Given the description of an element on the screen output the (x, y) to click on. 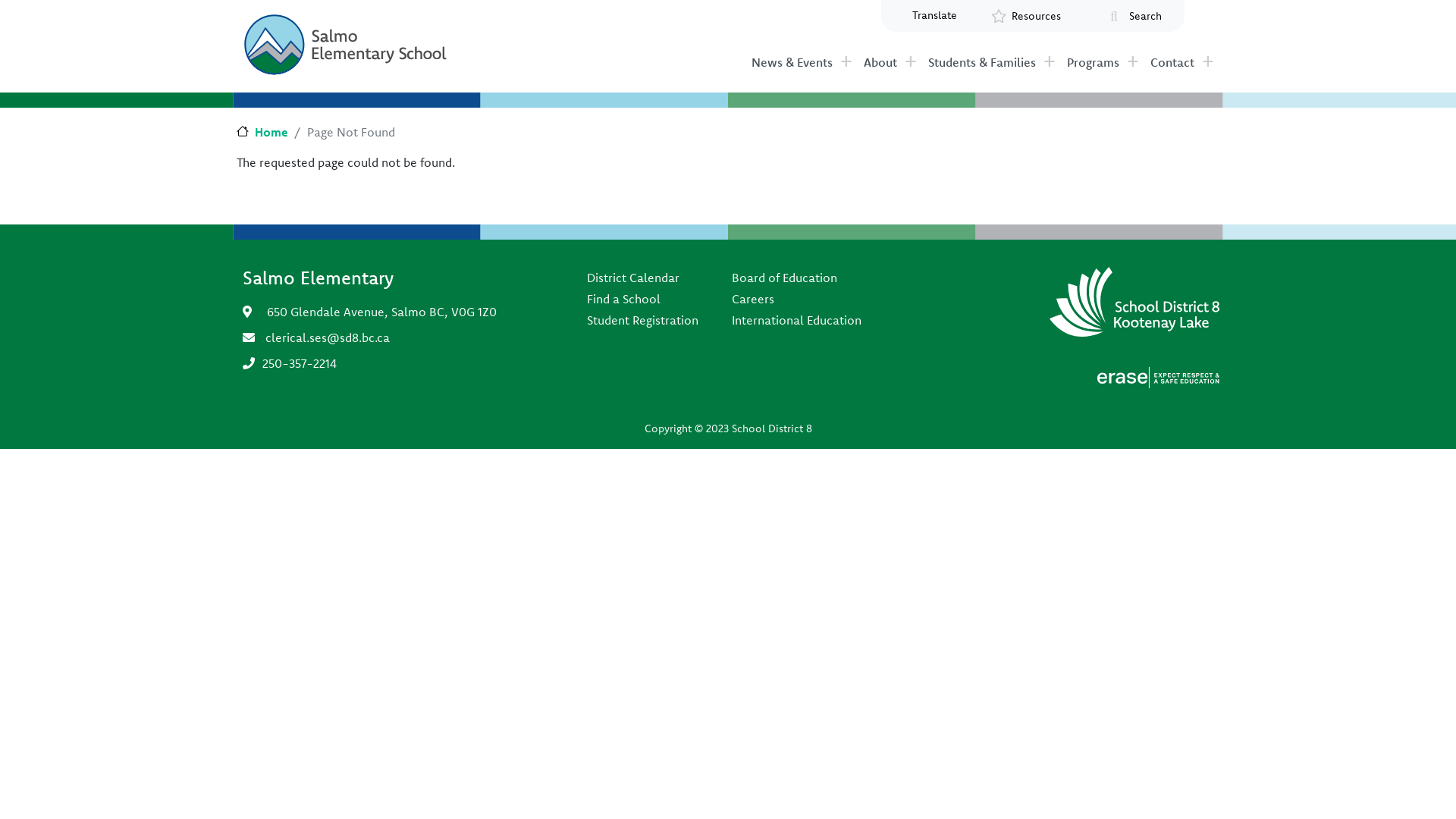
Translate Element type: text (933, 15)
Careers Element type: text (796, 298)
Board of Education Element type: text (796, 277)
Search Element type: text (1145, 15)
Resources Element type: text (1036, 16)
clerical.ses@sd8.bc.ca Element type: text (327, 337)
Find a School Element type: text (642, 298)
District Calendar Element type: text (642, 277)
Home Element type: text (262, 131)
Student Registration Element type: text (642, 319)
250-357-2214 Element type: text (299, 362)
International Education Element type: text (796, 319)
